Given the description of an element on the screen output the (x, y) to click on. 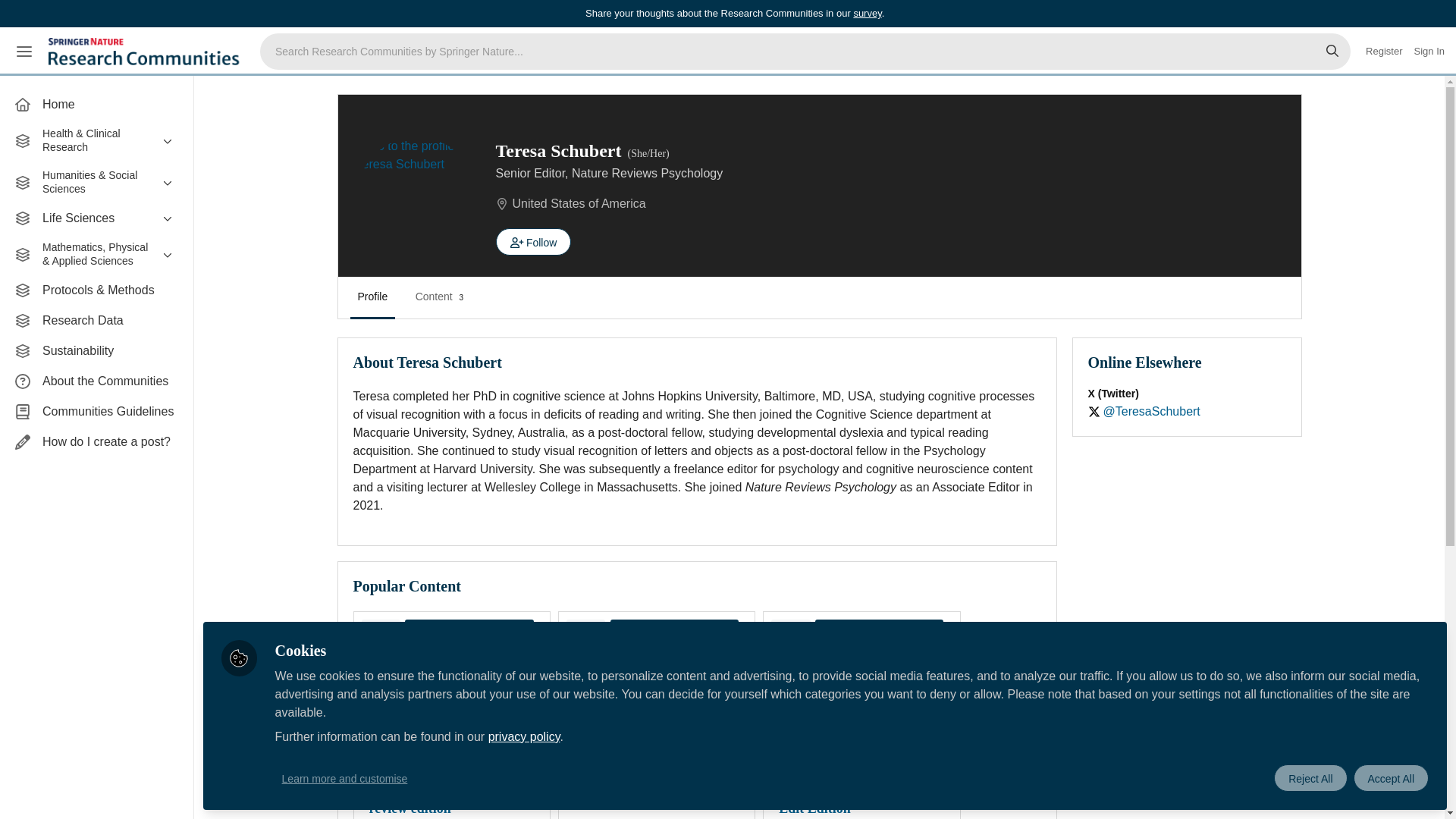
Life Sciences (96, 217)
Life Sciences (96, 217)
survey (866, 12)
Home (96, 103)
Menu (24, 51)
Home (96, 103)
Search (1332, 51)
Research Communities by Springer Nature (146, 51)
